Given the description of an element on the screen output the (x, y) to click on. 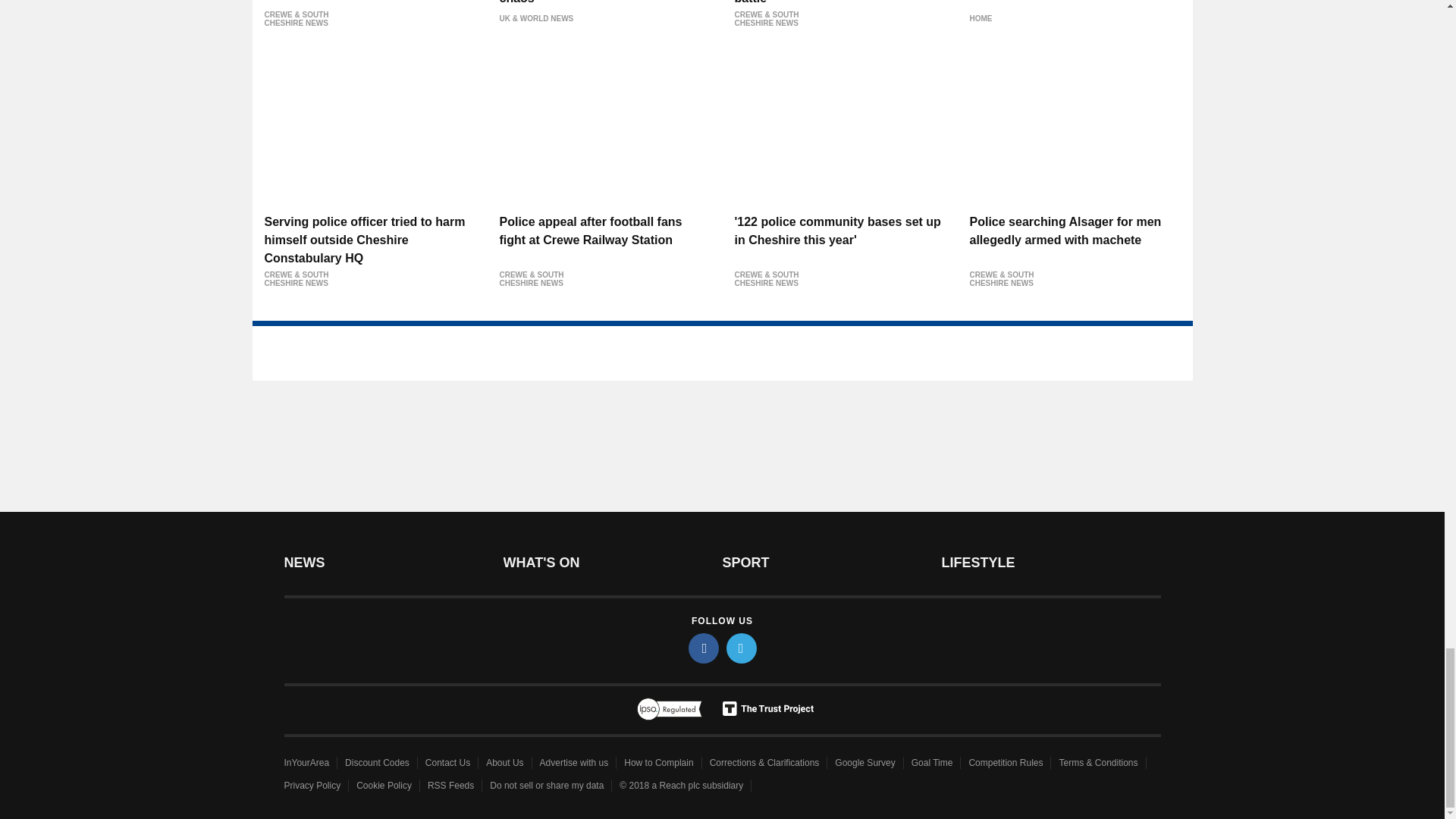
facebook (703, 648)
twitter (741, 648)
